Given the description of an element on the screen output the (x, y) to click on. 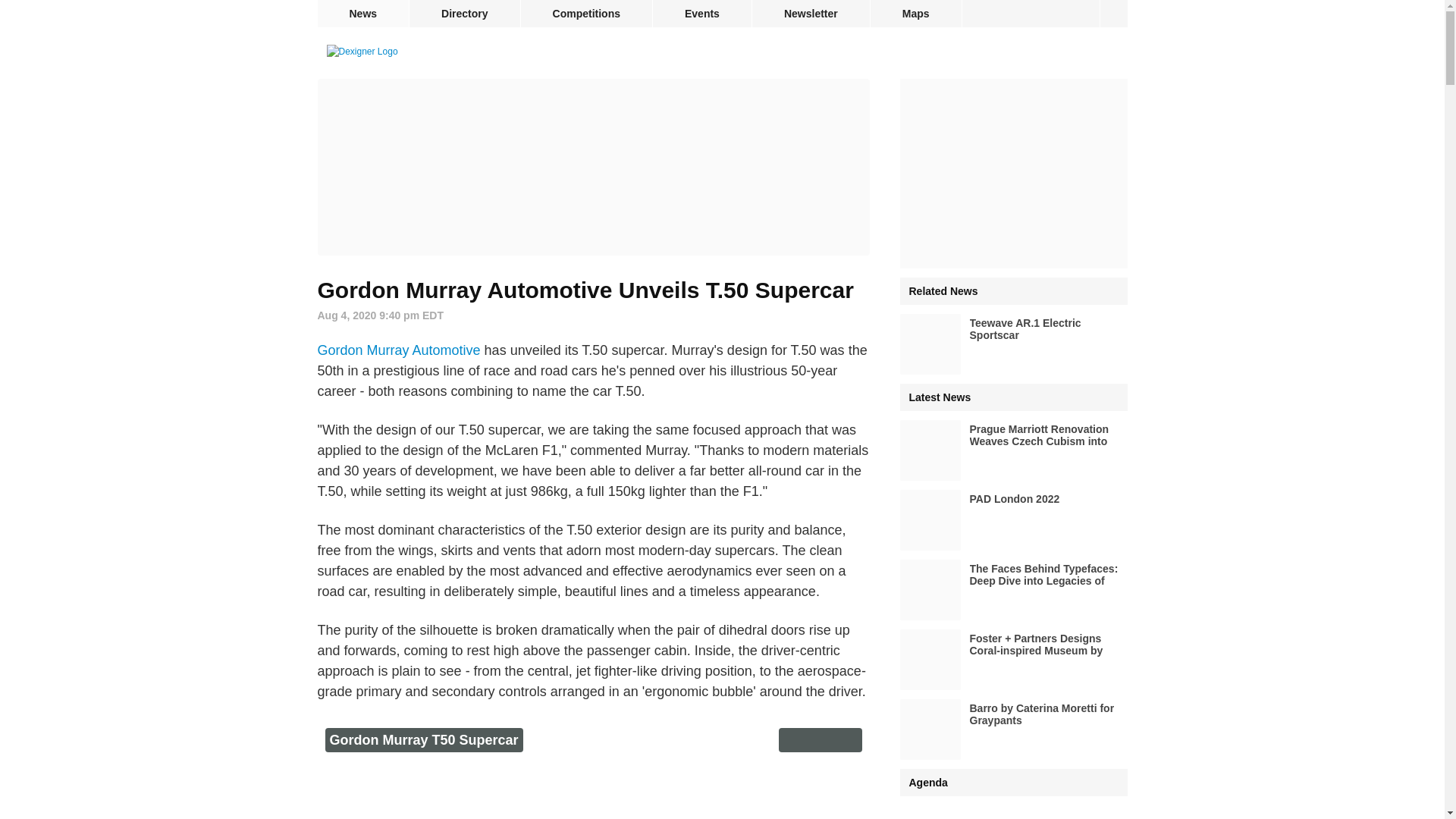
Competitions (586, 13)
Gordon Murray Automotive (398, 350)
Newsletter (810, 13)
PAD London 2022 (1012, 519)
follow dexigner (1112, 13)
Directory (464, 13)
Dexigner (361, 51)
Events (701, 13)
Gordon Murray T50 Supercar (423, 739)
Barro by Caterina Moretti for Graypants (1012, 729)
Maps (915, 13)
Teewave AR.1 Electric Sportscar (1012, 343)
News (363, 13)
